Given the description of an element on the screen output the (x, y) to click on. 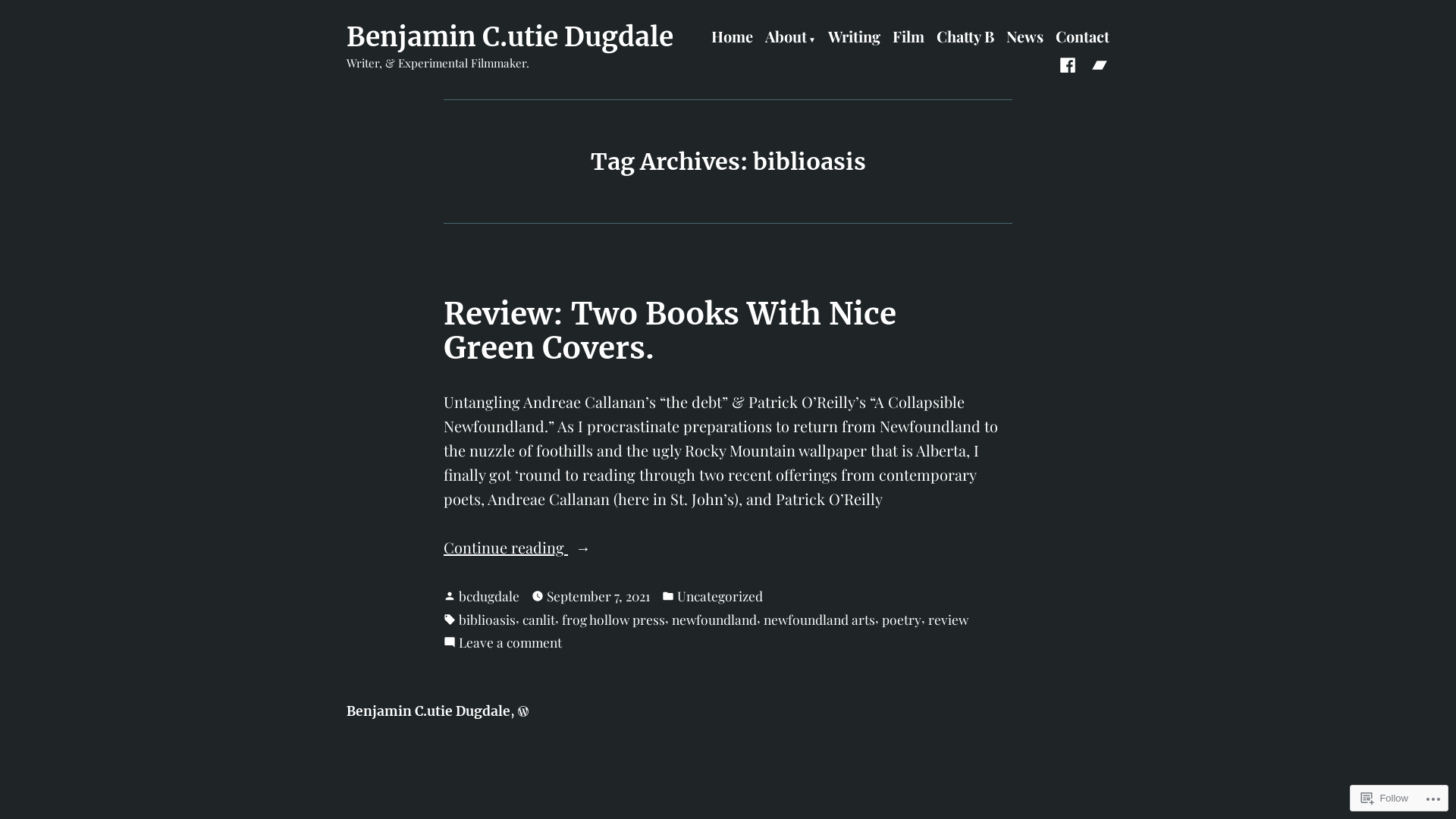
Writing Element type: text (854, 37)
canlit Element type: text (538, 619)
Uncategorized Element type: text (719, 595)
Review: Two Books With Nice Green Covers. Element type: text (669, 330)
poetry Element type: text (901, 619)
Home Element type: text (732, 37)
newfoundland Element type: text (713, 619)
bcdugdale Element type: text (488, 595)
News Element type: text (1024, 37)
September 7, 2021 Element type: text (597, 595)
Leave a comment Element type: text (509, 641)
Benjamin C.utie Dugdale Element type: text (509, 36)
Benjamin C.utie Dugdale Element type: text (428, 710)
Contact Element type: text (1082, 37)
Follow Element type: text (1384, 797)
biblioasis Element type: text (486, 619)
Film Element type: text (908, 37)
newfoundland arts Element type: text (819, 619)
Chatty B Element type: text (965, 37)
Continue reading Element type: text (727, 547)
Create a website or blog at WordPress.com Element type: hover (522, 710)
About Element type: text (790, 37)
frog hollow press Element type: text (613, 619)
review Element type: text (948, 619)
